Given the description of an element on the screen output the (x, y) to click on. 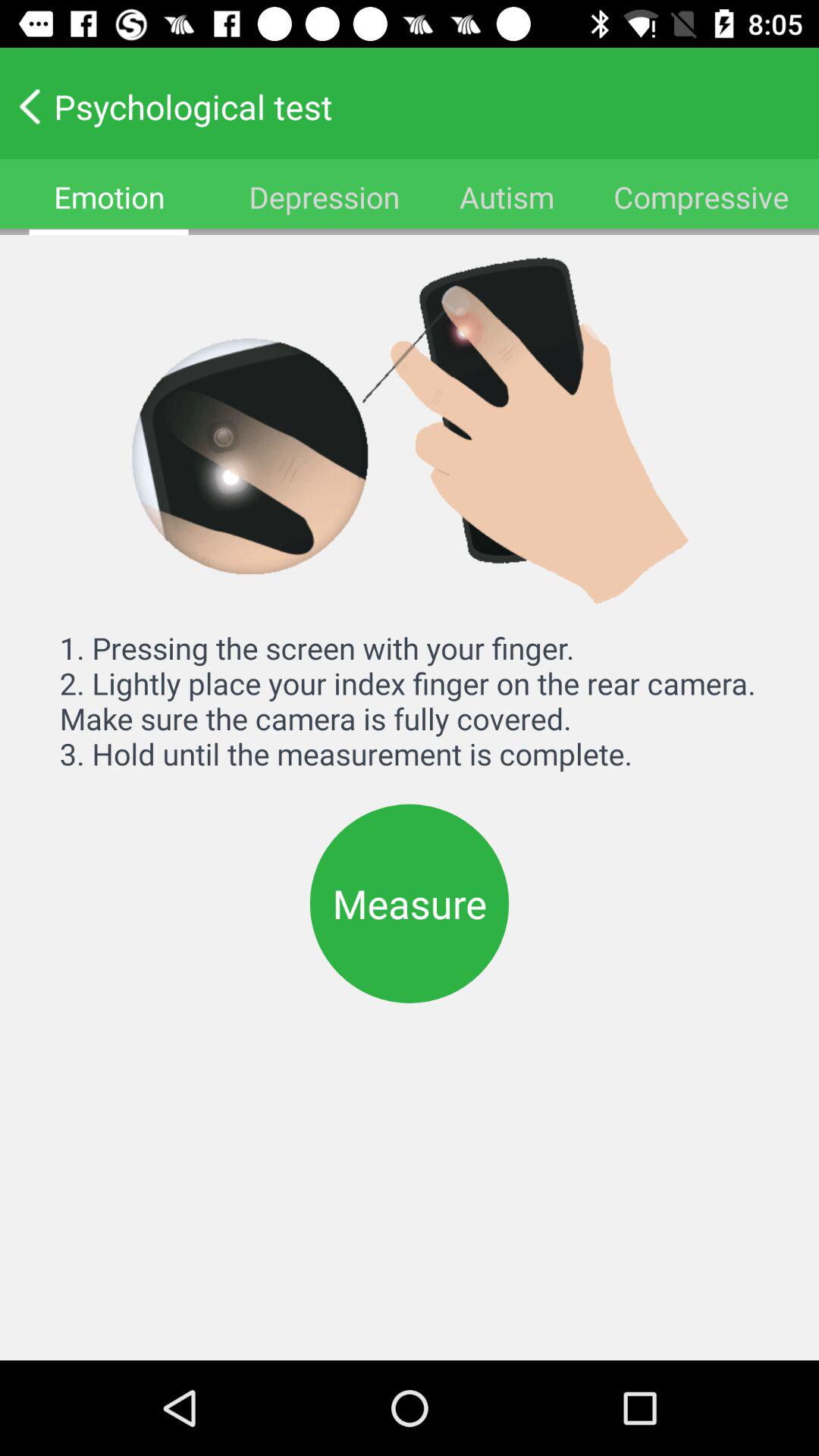
launch depression item (323, 196)
